Given the description of an element on the screen output the (x, y) to click on. 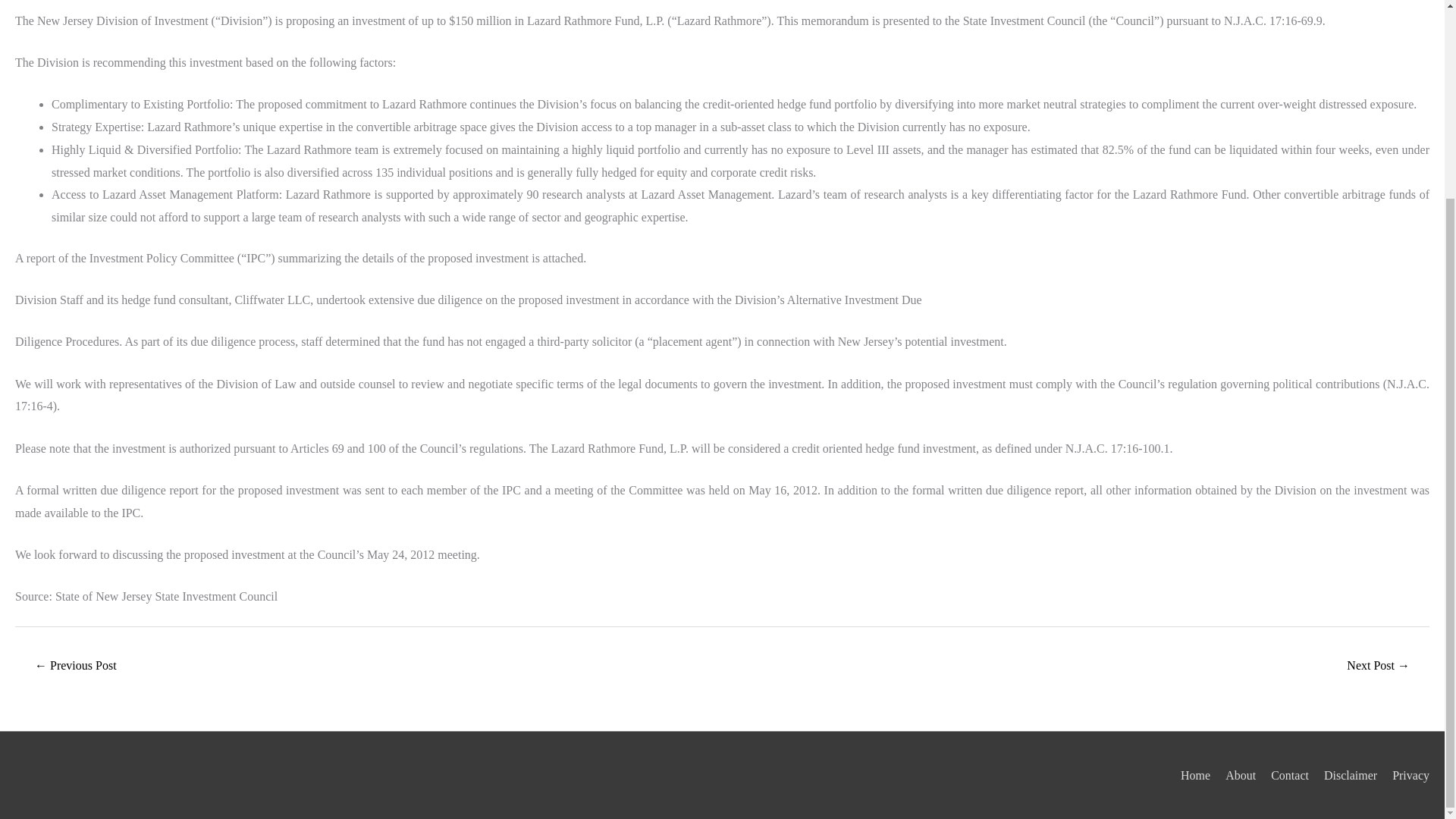
Contact (1283, 775)
Proposed Investment in Tenex Capital Partners, L.P. (1377, 666)
Disclaimer (1344, 775)
Home (1189, 775)
Privacy (1404, 775)
About (1233, 775)
